Given the description of an element on the screen output the (x, y) to click on. 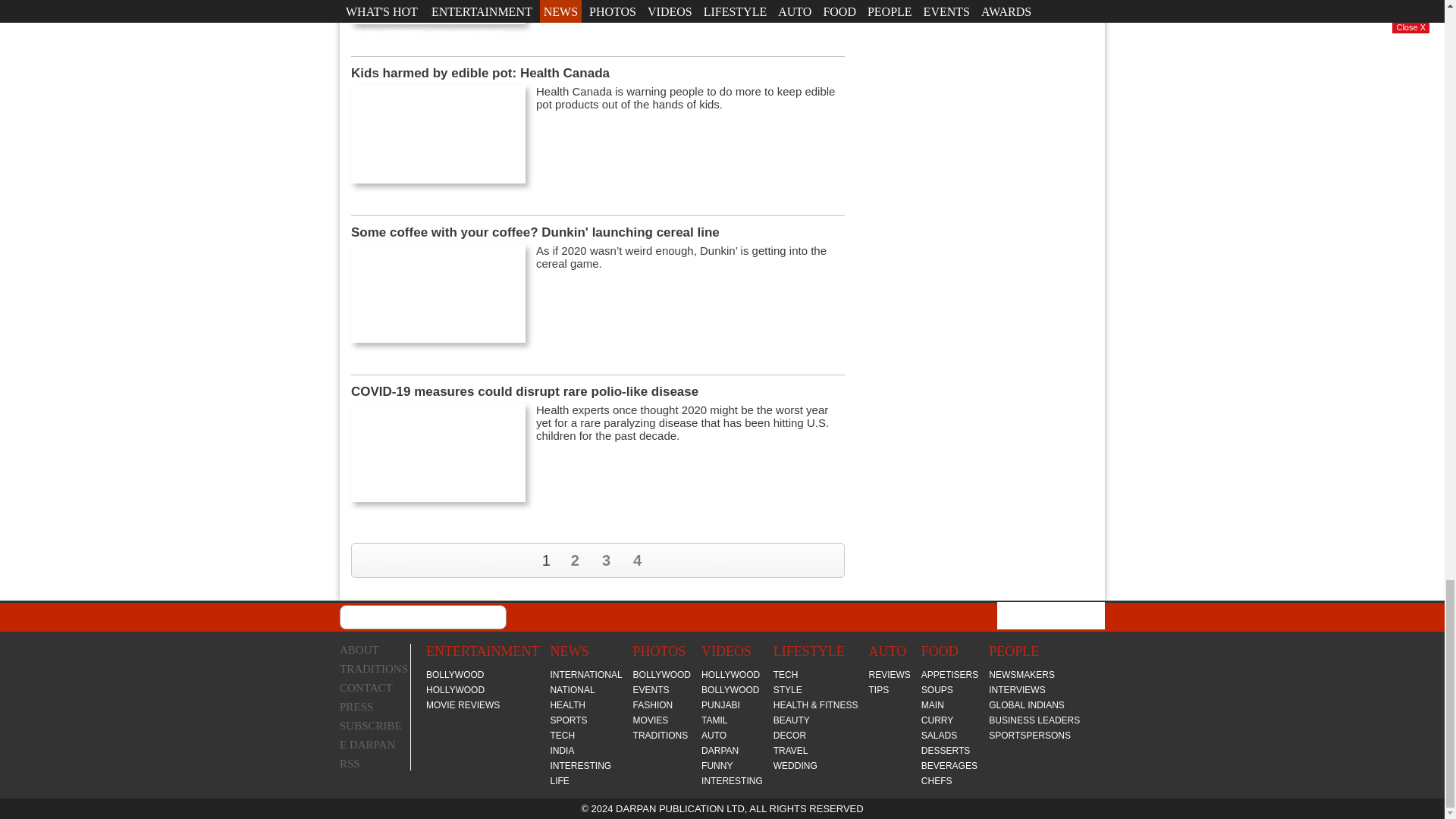
Study hints, can't prove, survivor plasma fights COVID-19 (437, 12)
Kids harmed by edible pot: Health Canada (437, 134)
Some coffee with your coffee? Dunkin' launching cereal line (437, 293)
